Given the description of an element on the screen output the (x, y) to click on. 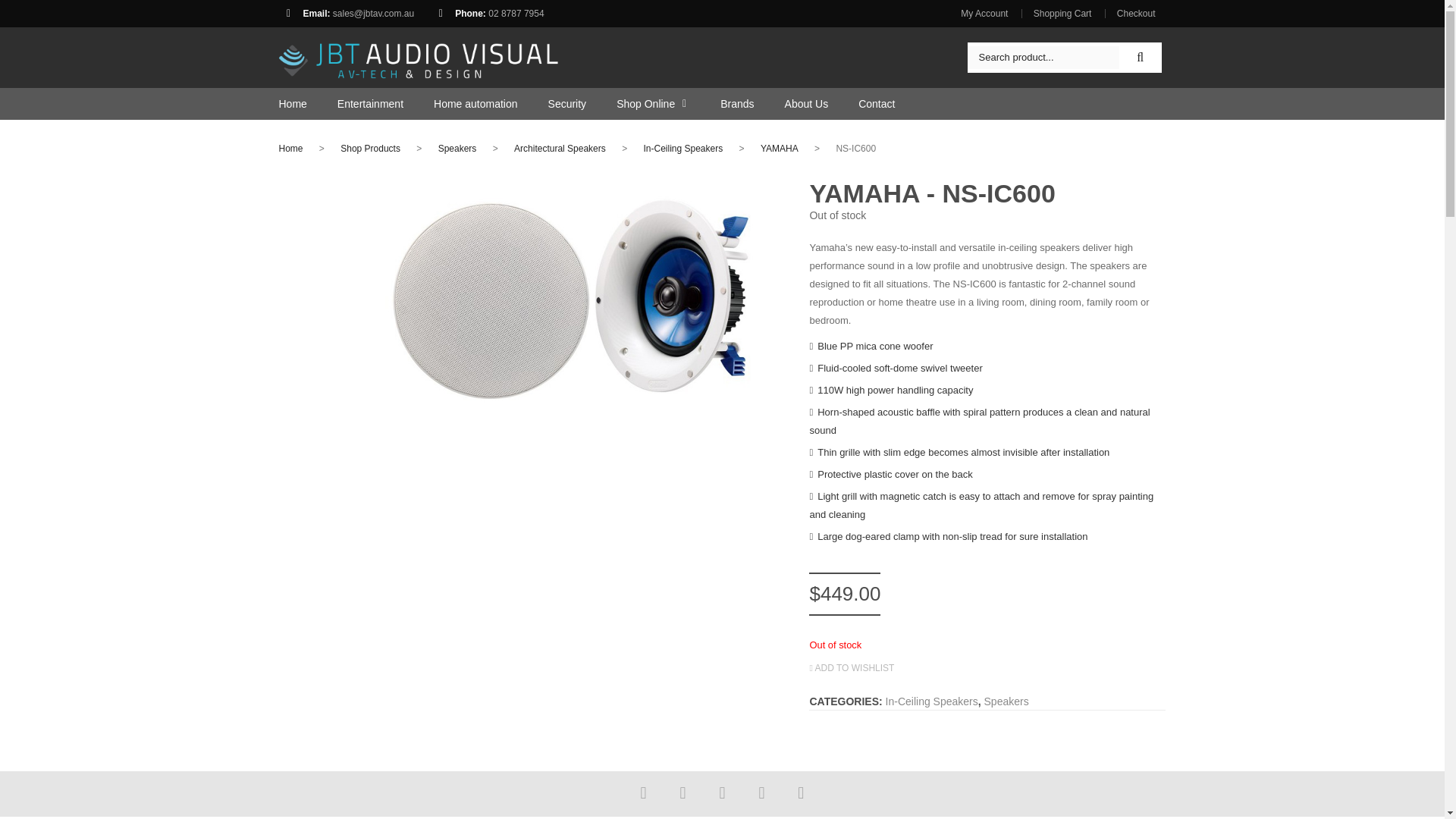
Shopping Cart (1062, 13)
Home automation (460, 103)
Security (552, 103)
Shop Online (638, 103)
Checkout (1135, 13)
JBT Audio Visual (419, 56)
Search product... (1043, 56)
My Account (988, 13)
ns-ic600 (574, 300)
Entertainment (355, 103)
